Given the description of an element on the screen output the (x, y) to click on. 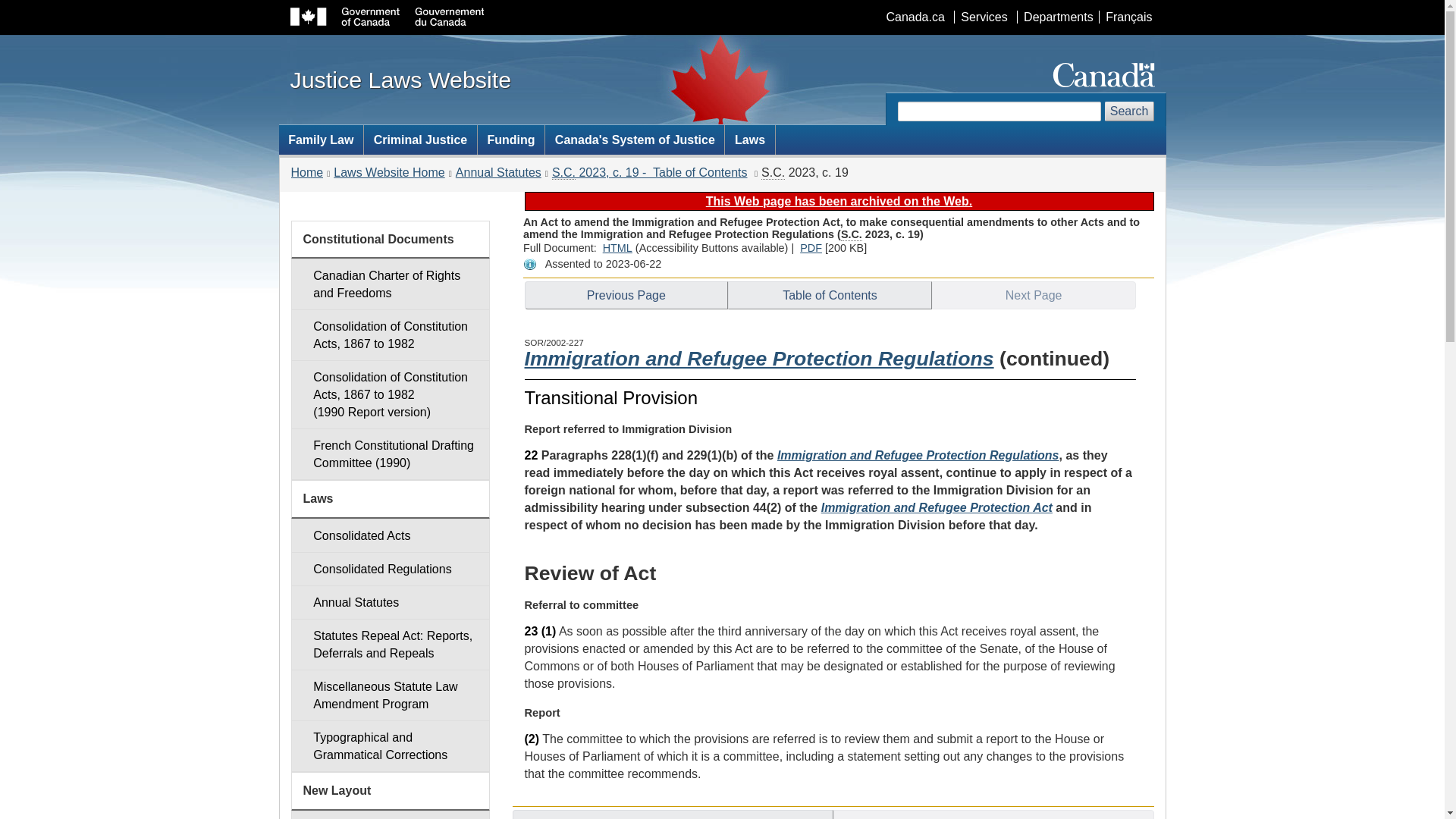
Justice Laws Website (400, 79)
Statutes of Canada (772, 172)
Consolidated Regulations and Orders (390, 569)
Table of Contents (829, 295)
Immigration and Refugee Protection Regulations (918, 454)
Annual Statutes (498, 172)
Funding (510, 139)
Skip to main content (725, 11)
Statutes of Canada (851, 234)
Departments (1057, 16)
Criminal Justice (420, 139)
Laws Website Home (388, 172)
Previous Page (626, 295)
22 (531, 454)
